Given the description of an element on the screen output the (x, y) to click on. 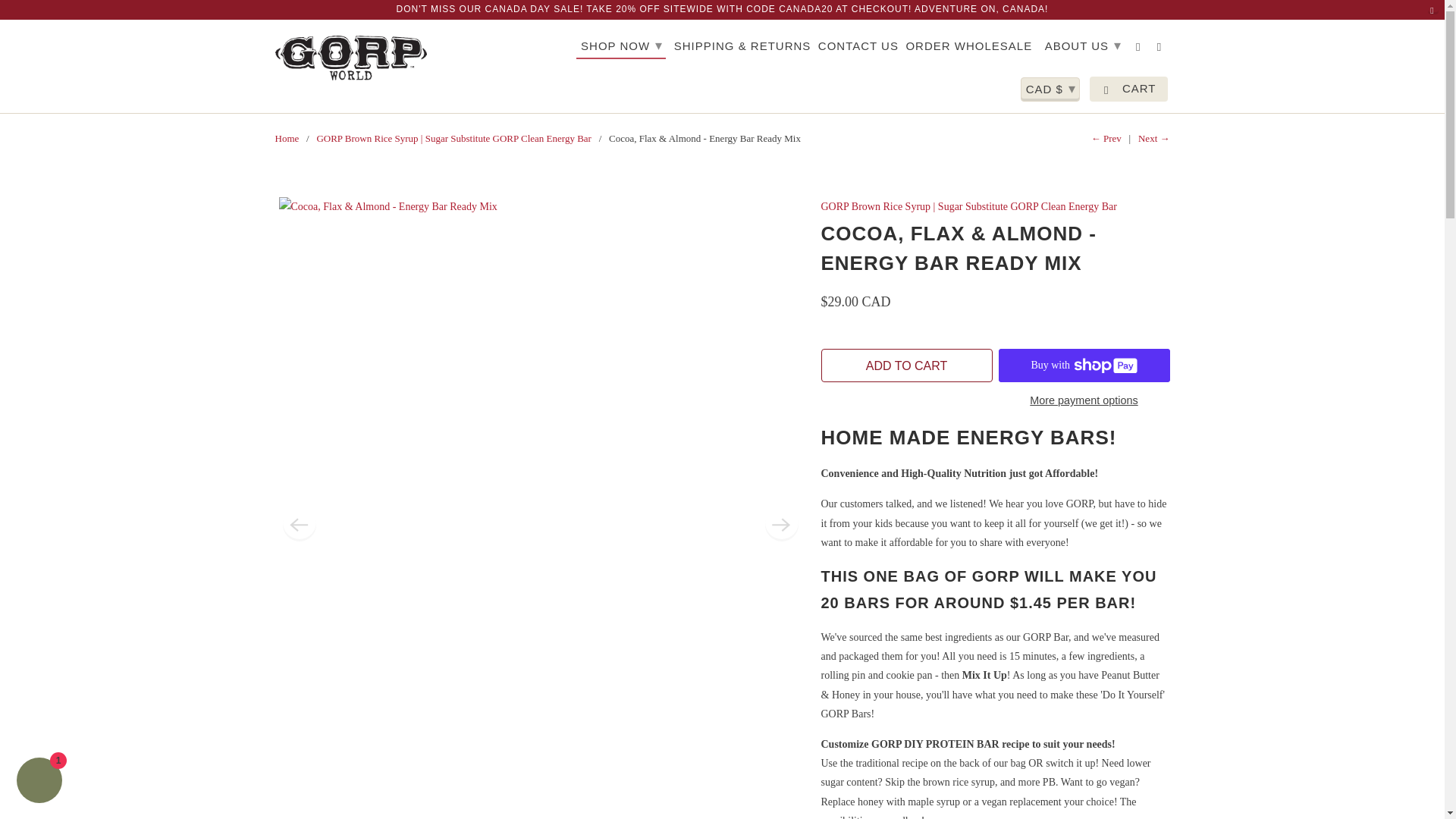
GORP World (350, 57)
GORP World (286, 138)
